Given the description of an element on the screen output the (x, y) to click on. 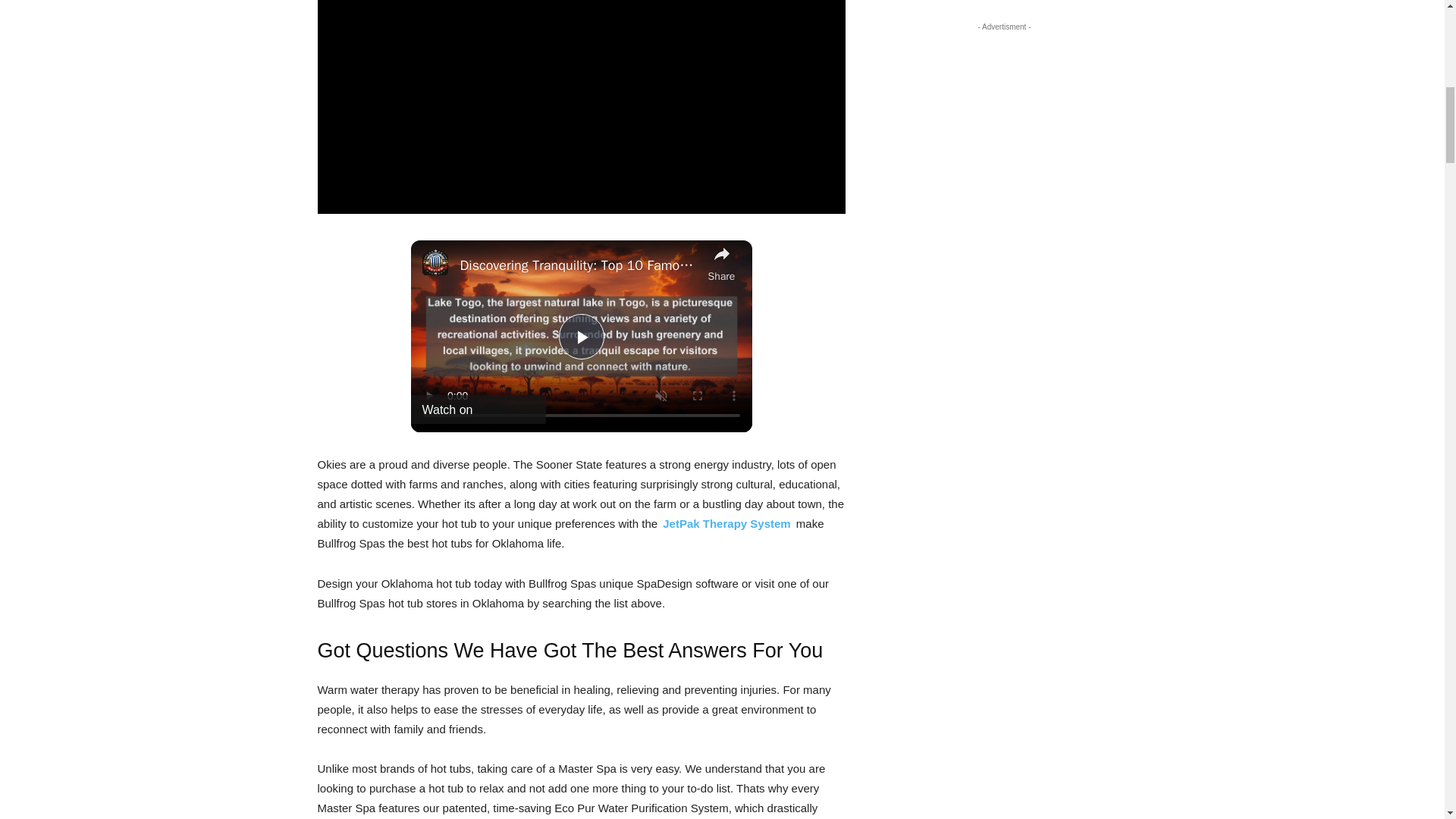
Play Video (580, 336)
